Given the description of an element on the screen output the (x, y) to click on. 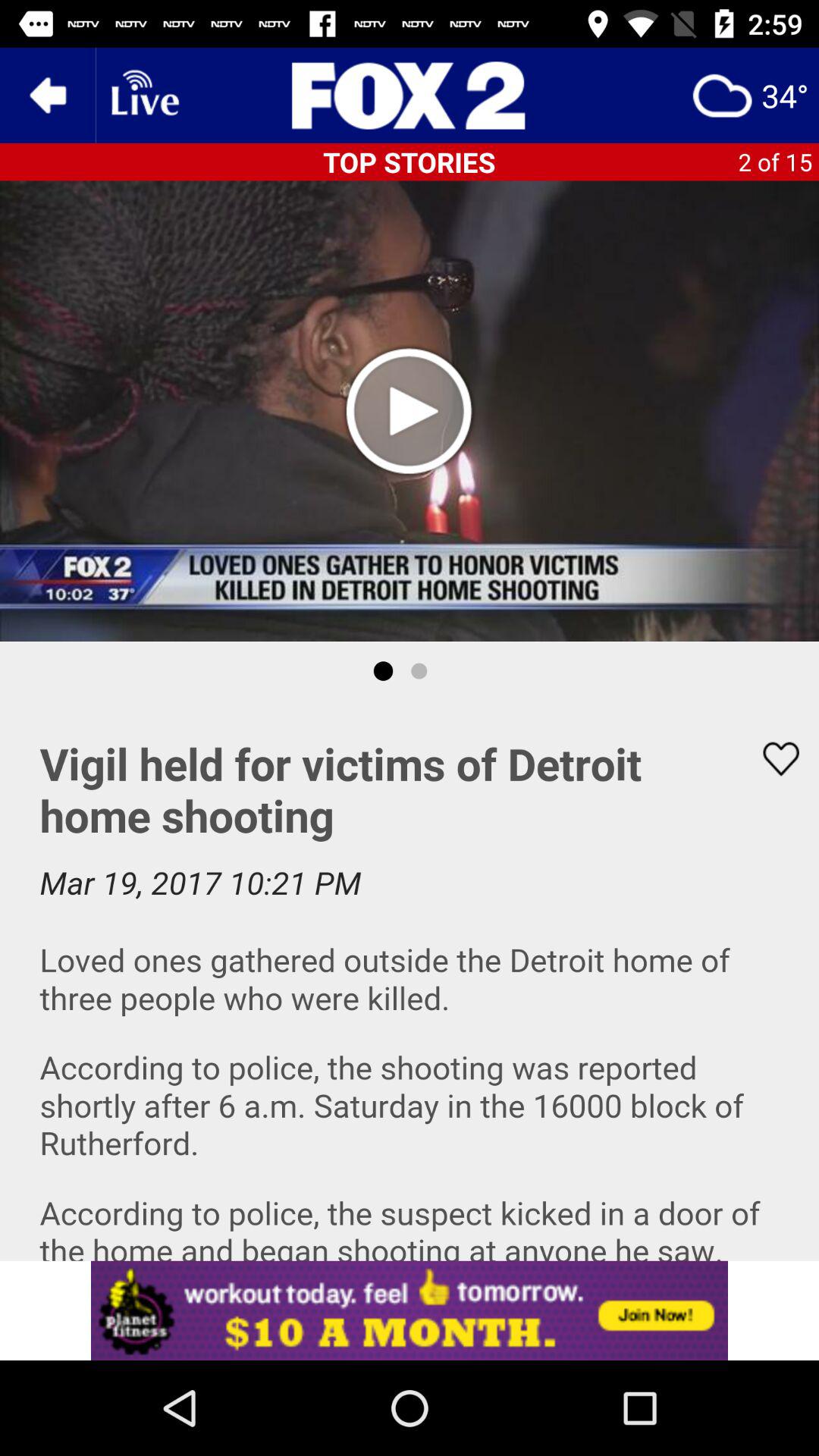
advertisement link image (409, 1310)
